Given the description of an element on the screen output the (x, y) to click on. 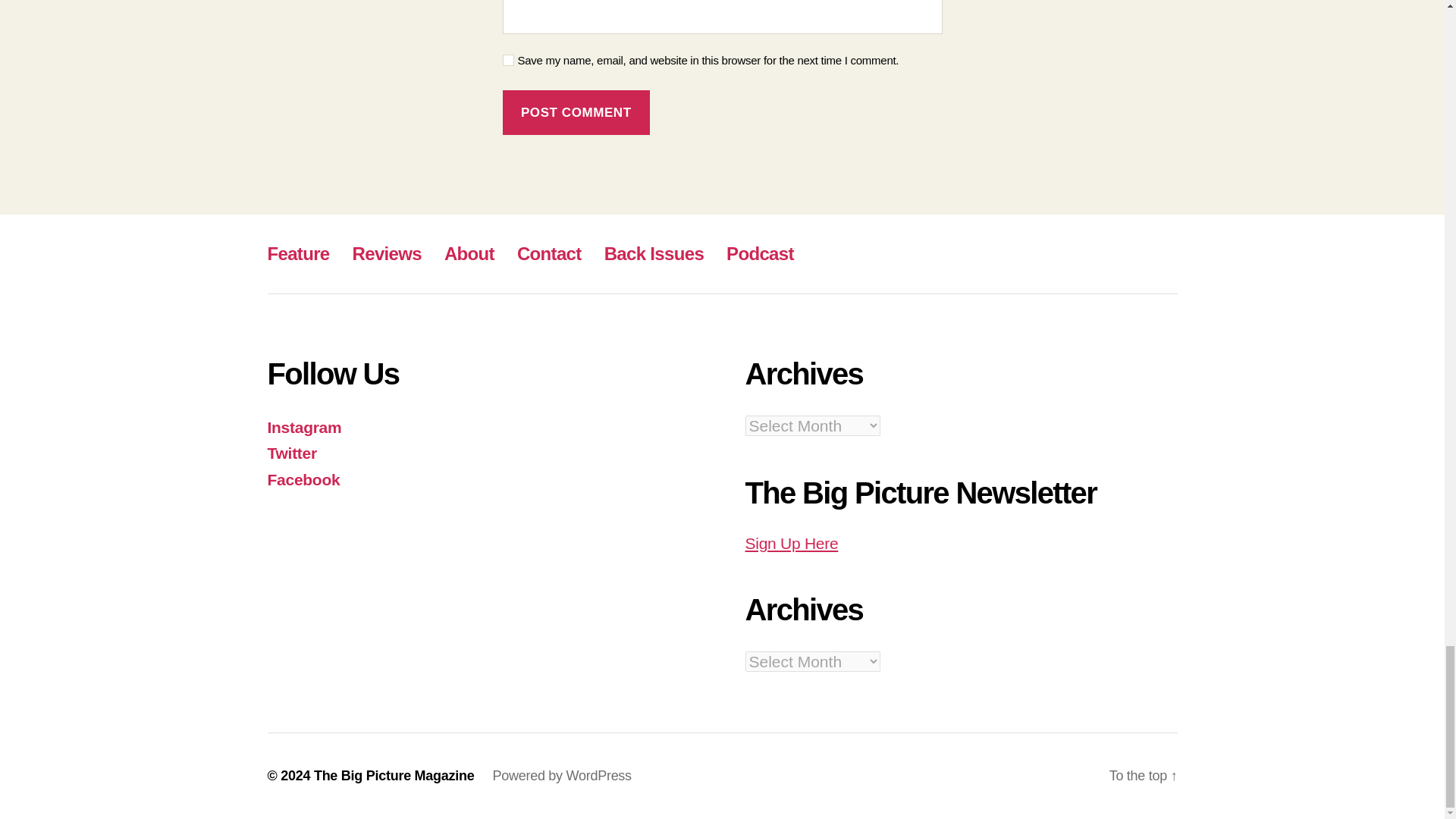
Facebook (302, 479)
Instagram (303, 426)
Post Comment (575, 112)
yes (507, 60)
